Given the description of an element on the screen output the (x, y) to click on. 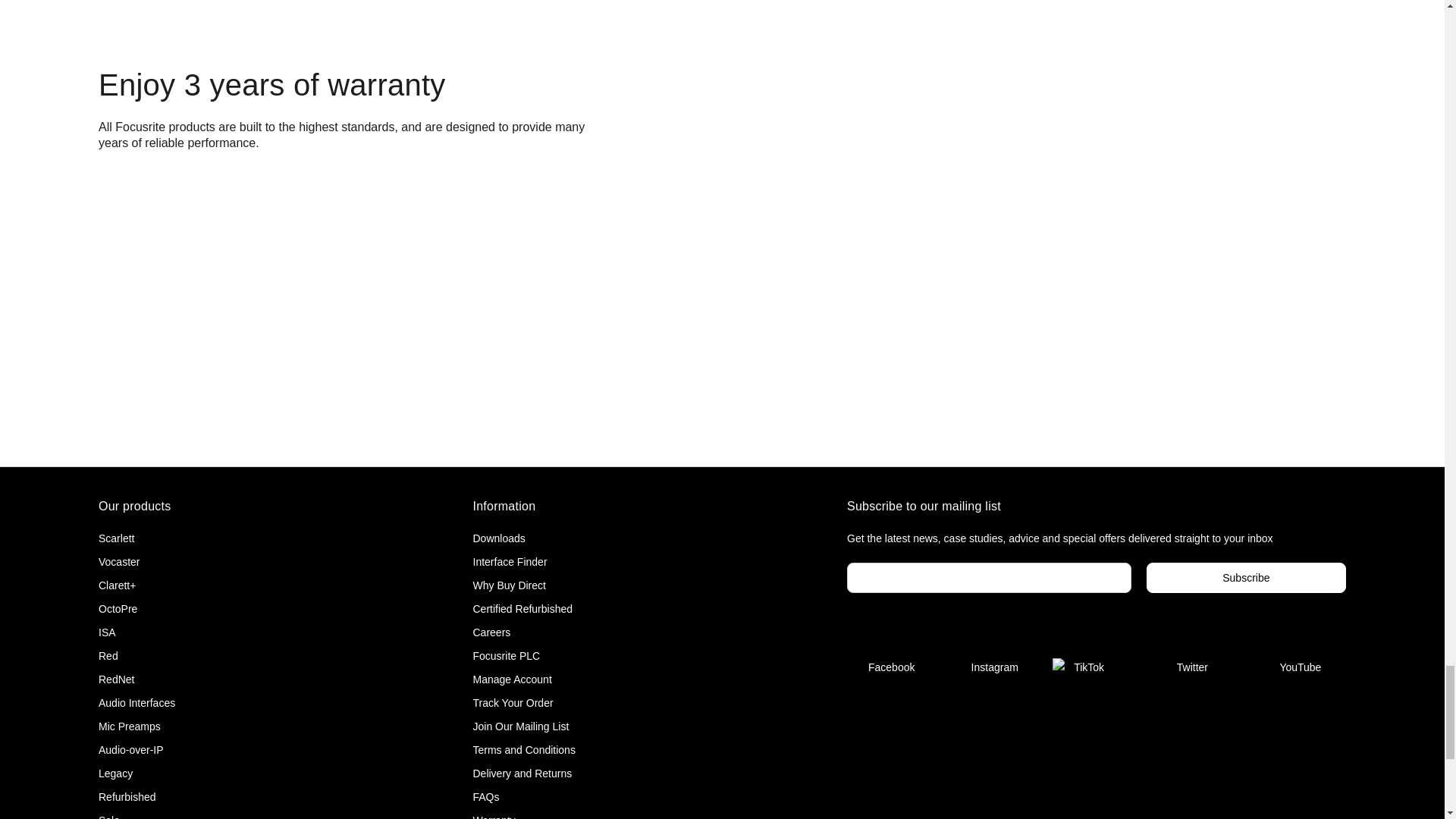
Subscribe (1246, 577)
